Given the description of an element on the screen output the (x, y) to click on. 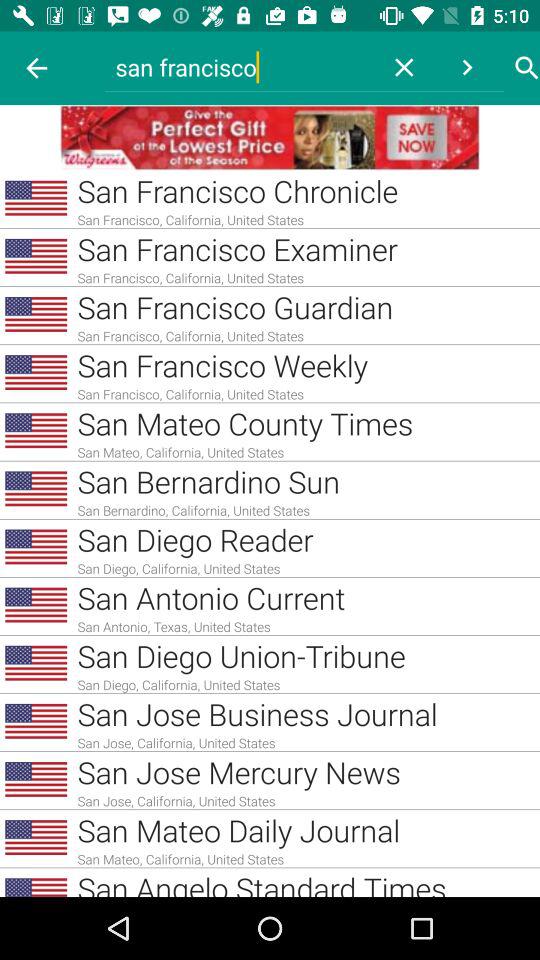
click search button (527, 67)
